Given the description of an element on the screen output the (x, y) to click on. 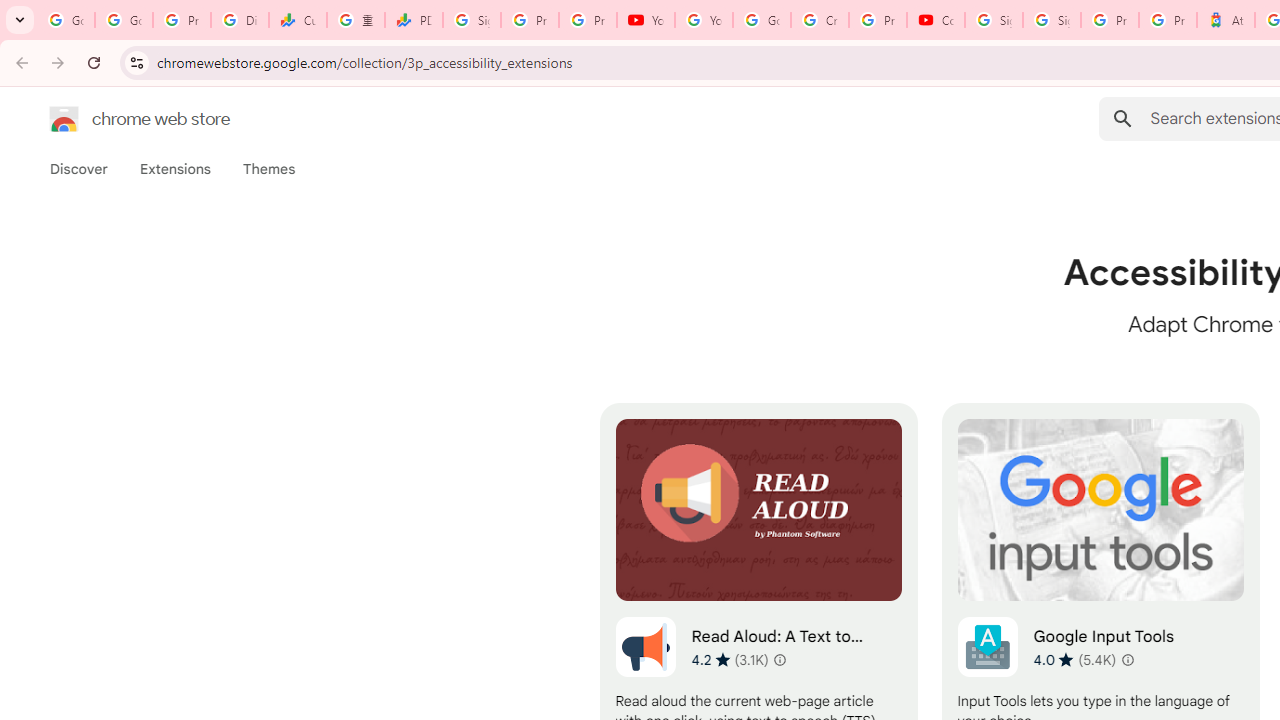
Discover (79, 169)
Learn more about results and reviews "Google Input Tools" (1127, 659)
Extensions (174, 169)
Sign in - Google Accounts (471, 20)
Create your Google Account (819, 20)
PDD Holdings Inc - ADR (PDD) Price & News - Google Finance (413, 20)
Privacy Checkup (587, 20)
